Given the description of an element on the screen output the (x, y) to click on. 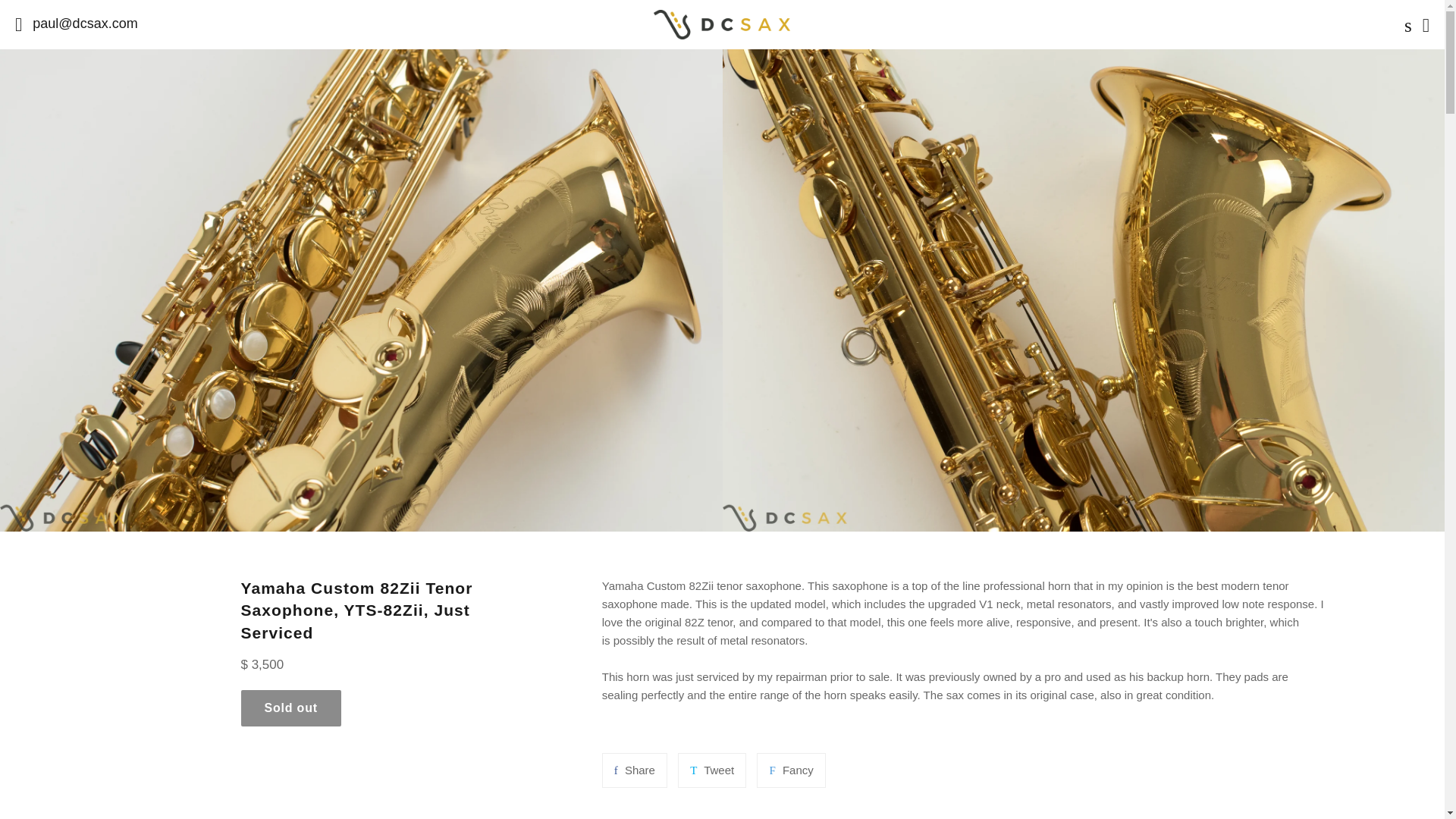
Fancy (791, 769)
Sold out (290, 708)
Share (634, 769)
Tweet (711, 769)
